Given the description of an element on the screen output the (x, y) to click on. 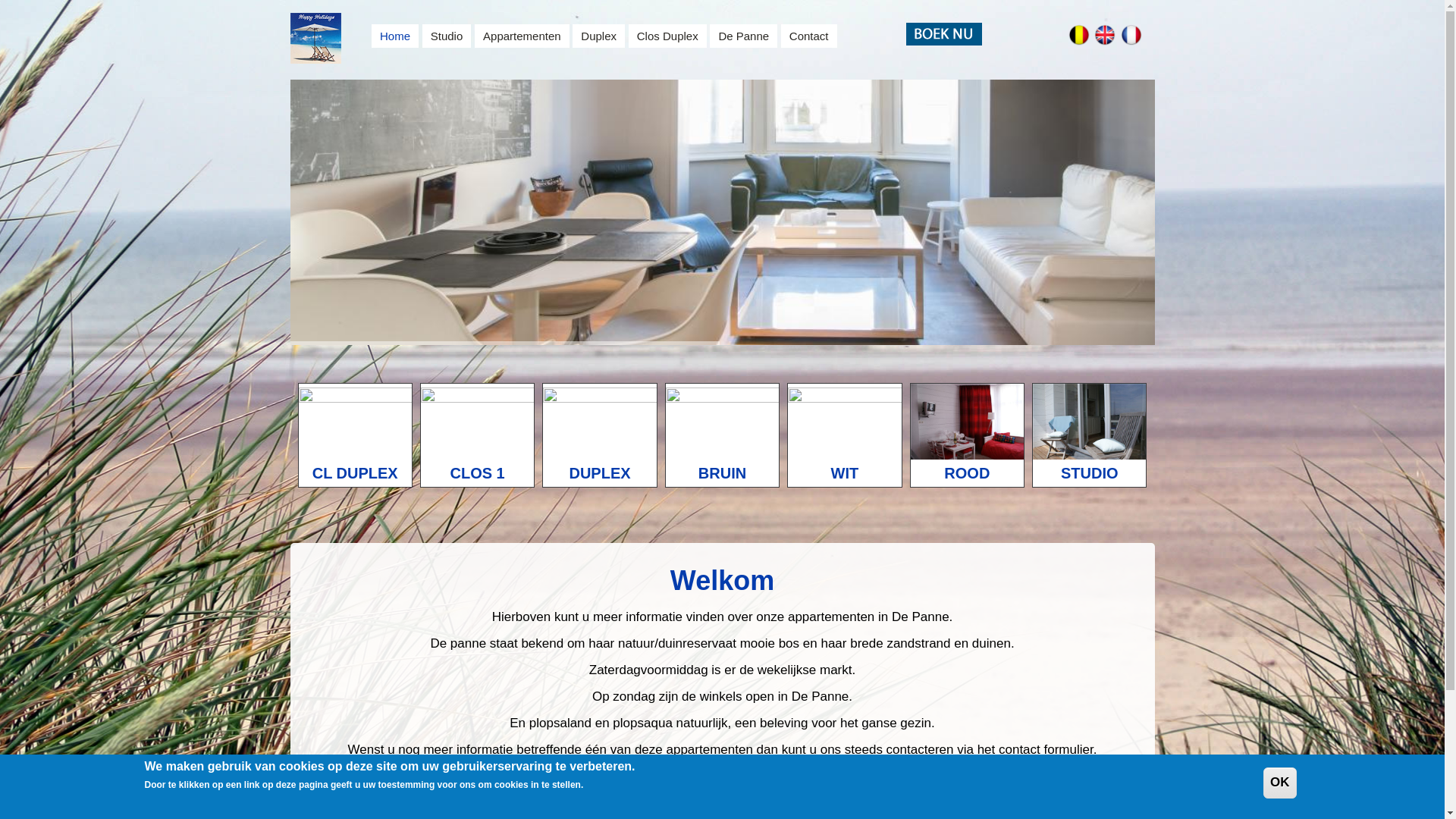
Appartementen Element type: text (521, 35)
Studio Element type: text (446, 35)
NL Element type: hover (1078, 34)
Clos Duplex Element type: text (667, 35)
BRUIN Element type: text (721, 434)
DUPLEX Element type: text (598, 434)
Home Element type: text (394, 35)
STUDIO Element type: text (1088, 434)
CL DUPLEX Element type: text (354, 434)
ROOD Element type: text (966, 434)
Duplex Element type: text (598, 35)
De Panne Element type: text (743, 35)
CLOS 1 Element type: text (476, 434)
FR Element type: hover (1131, 34)
EN Element type: hover (1104, 34)
Skip to main content Element type: text (58, 0)
Contact Element type: text (809, 35)
WIT Element type: text (843, 434)
OK Element type: text (1279, 782)
